Given the description of an element on the screen output the (x, y) to click on. 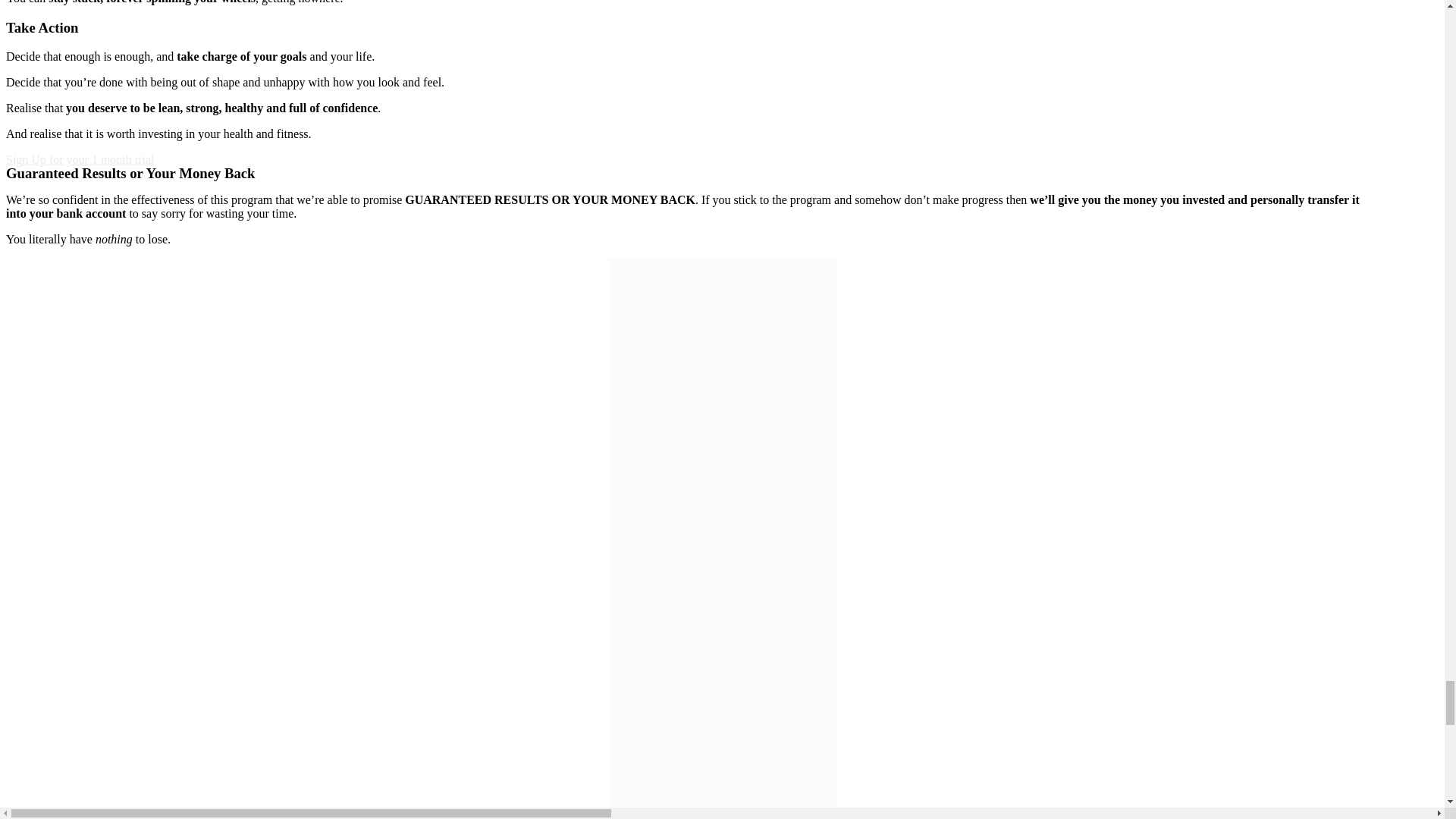
Sign Up for your 1 month trial (79, 159)
